Given the description of an element on the screen output the (x, y) to click on. 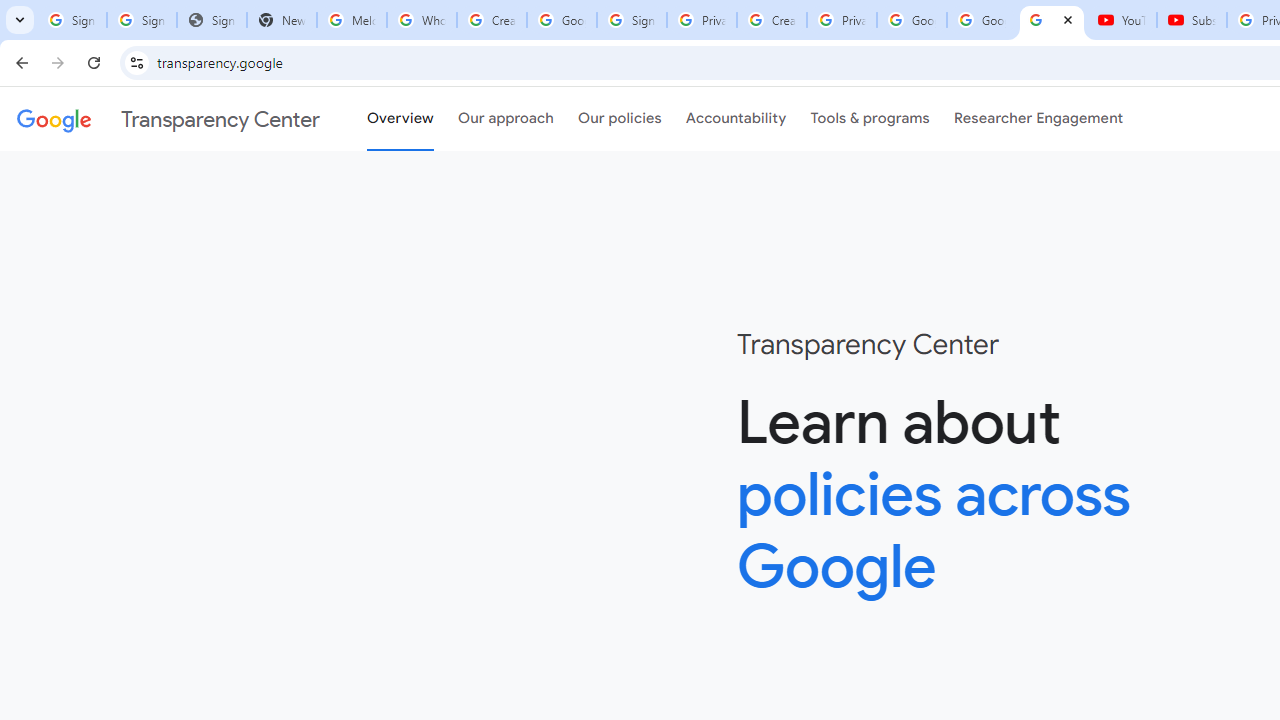
New Tab (282, 20)
Our policies (619, 119)
